Given the description of an element on the screen output the (x, y) to click on. 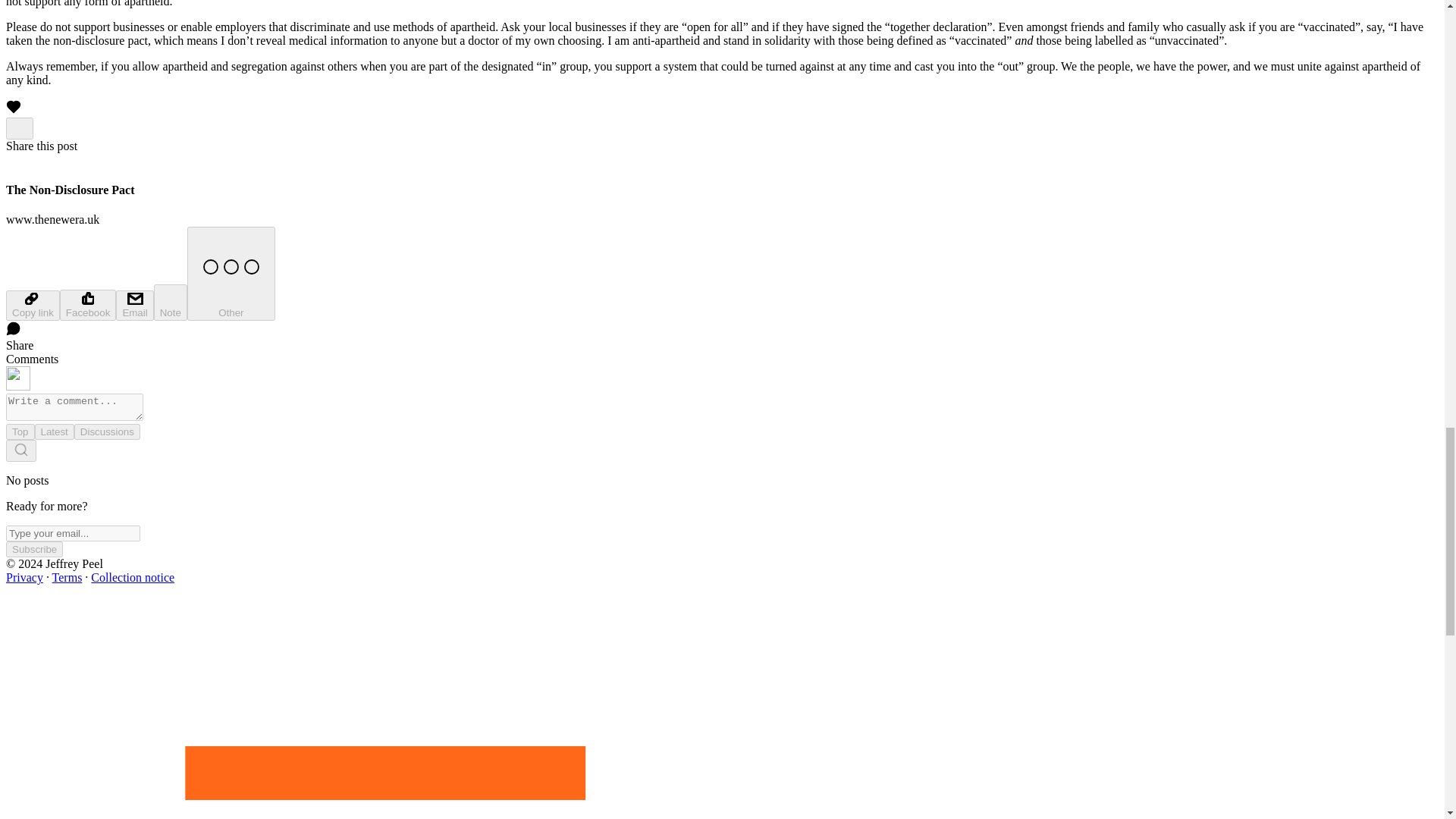
Facebook (87, 305)
Latest (54, 431)
Copy link (32, 305)
Terms (67, 576)
Subscribe (33, 549)
Email (134, 305)
Note (170, 302)
Other (231, 273)
Top (19, 431)
Discussions (106, 431)
